Given the description of an element on the screen output the (x, y) to click on. 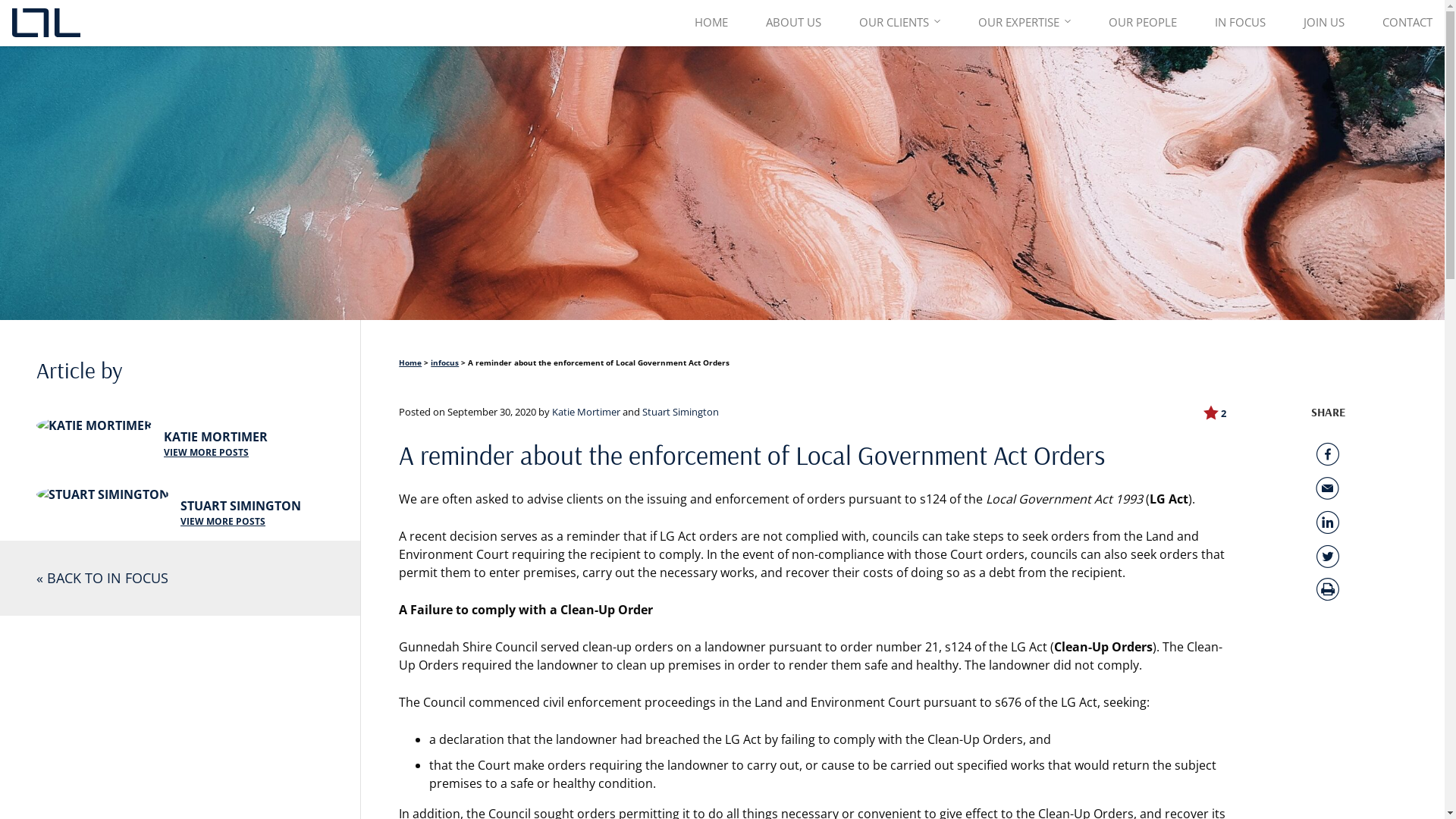
2 Element type: text (1214, 412)
OUR CLIENTS Element type: text (893, 22)
VIEW MORE POSTS Element type: text (215, 452)
Home Element type: text (409, 362)
IN FOCUS Element type: text (1239, 22)
CONTACT Element type: text (1407, 22)
JOIN US Element type: text (1323, 22)
OUR PEOPLE Element type: text (1142, 22)
VIEW MORE POSTS Element type: text (240, 521)
ABOUT US Element type: text (793, 22)
STUART SIMINGTON Element type: text (240, 505)
Katie Mortimer Element type: text (586, 411)
OUR EXPERTISE Element type: text (1018, 22)
KATIE MORTIMER Element type: text (215, 436)
infocus Element type: text (444, 362)
Stuart Simington Element type: text (680, 411)
HOME Element type: text (711, 22)
